Given the description of an element on the screen output the (x, y) to click on. 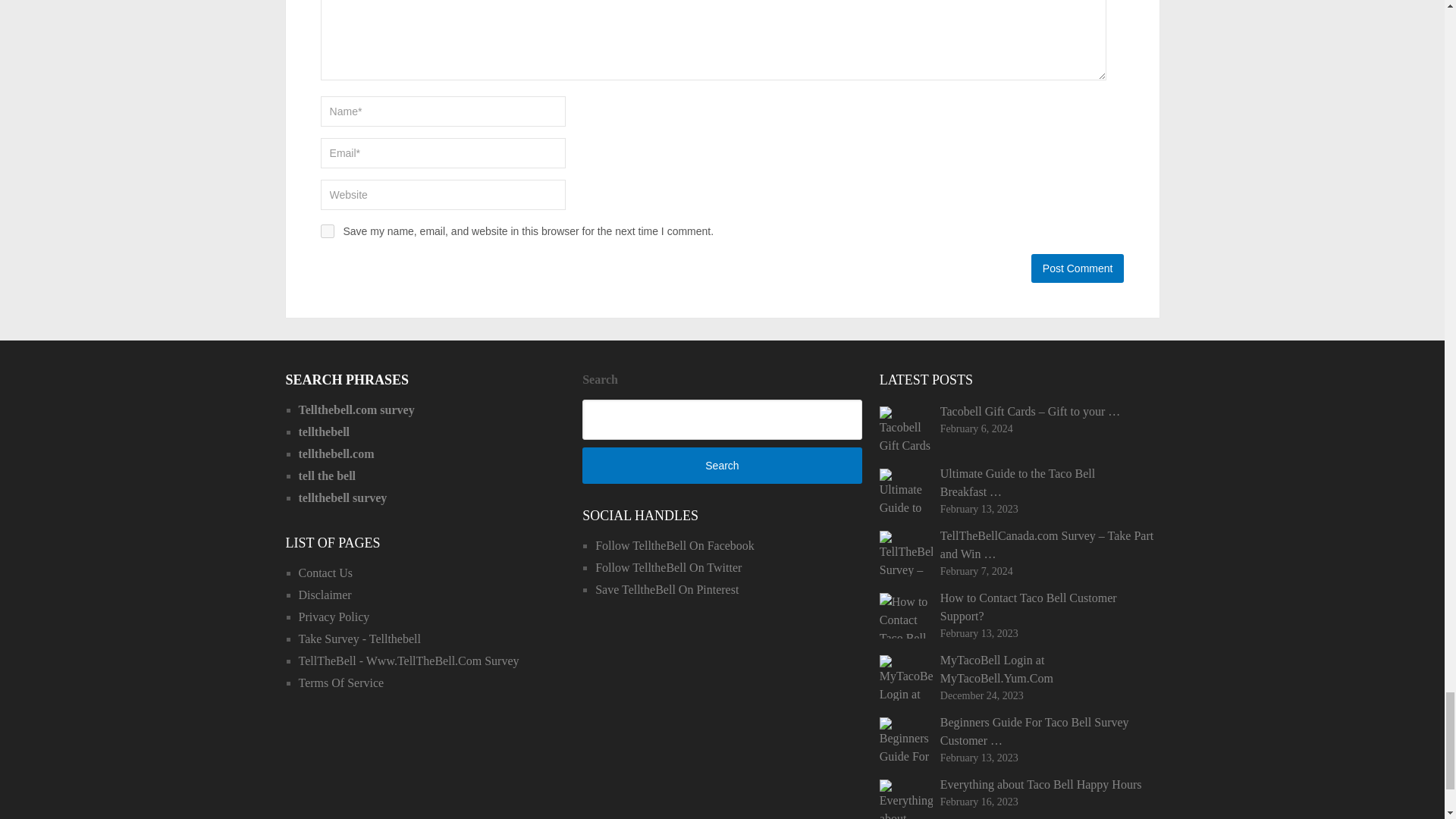
tell the bell (327, 475)
yes (327, 231)
How to Contact Taco Bell Customer Support? (1018, 606)
Ultimate Guide to the Taco Bell Breakfast Menu (906, 491)
Take Survey - Tellthebell (359, 638)
How to Contact Taco Bell Customer Support? (906, 615)
tellthebell.com (336, 453)
tellthebell (324, 431)
Tellthebell.com survey (356, 409)
Post Comment (1077, 267)
